Given the description of an element on the screen output the (x, y) to click on. 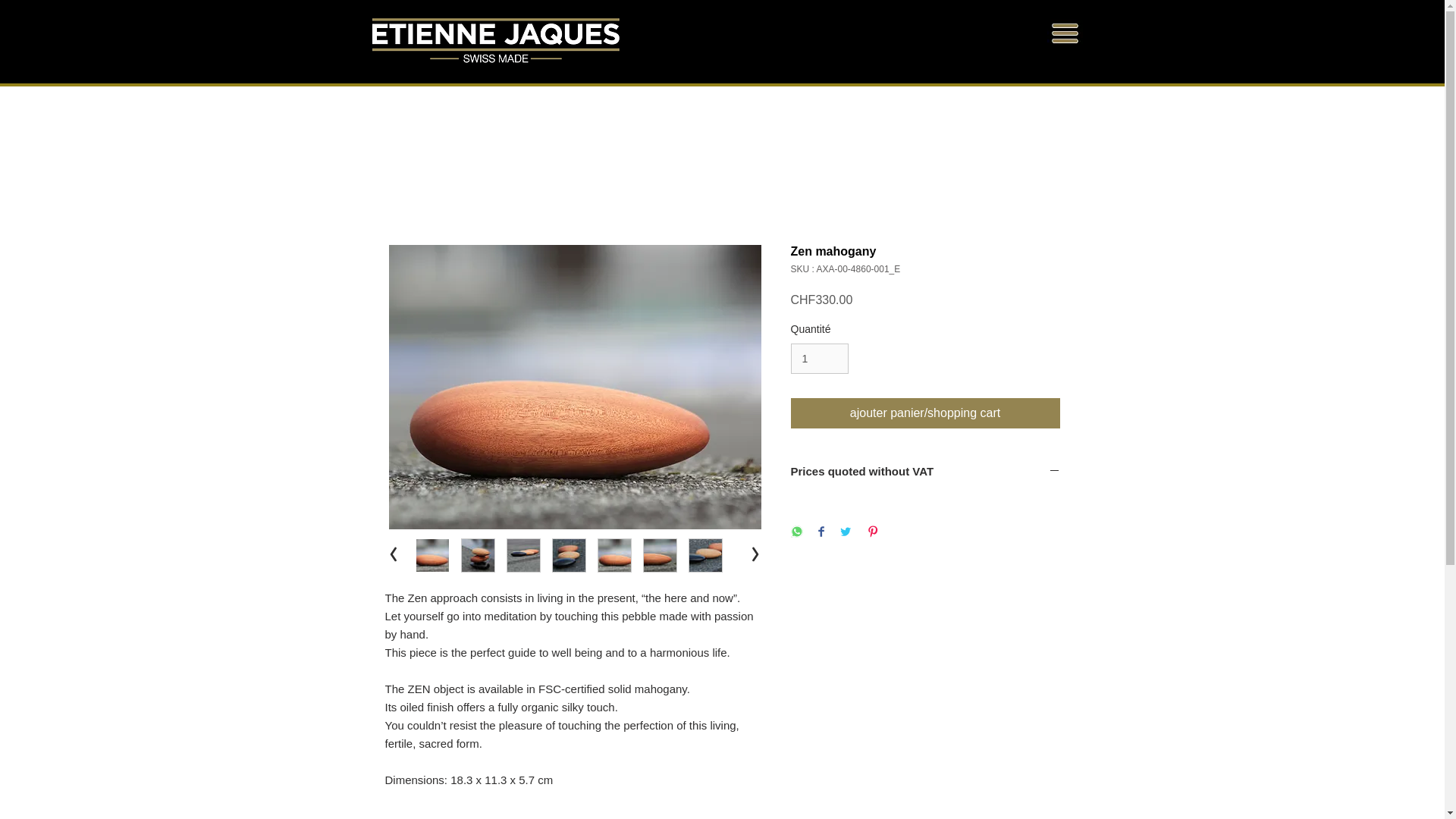
1 (818, 358)
Prices quoted without VAT (924, 472)
